Given the description of an element on the screen output the (x, y) to click on. 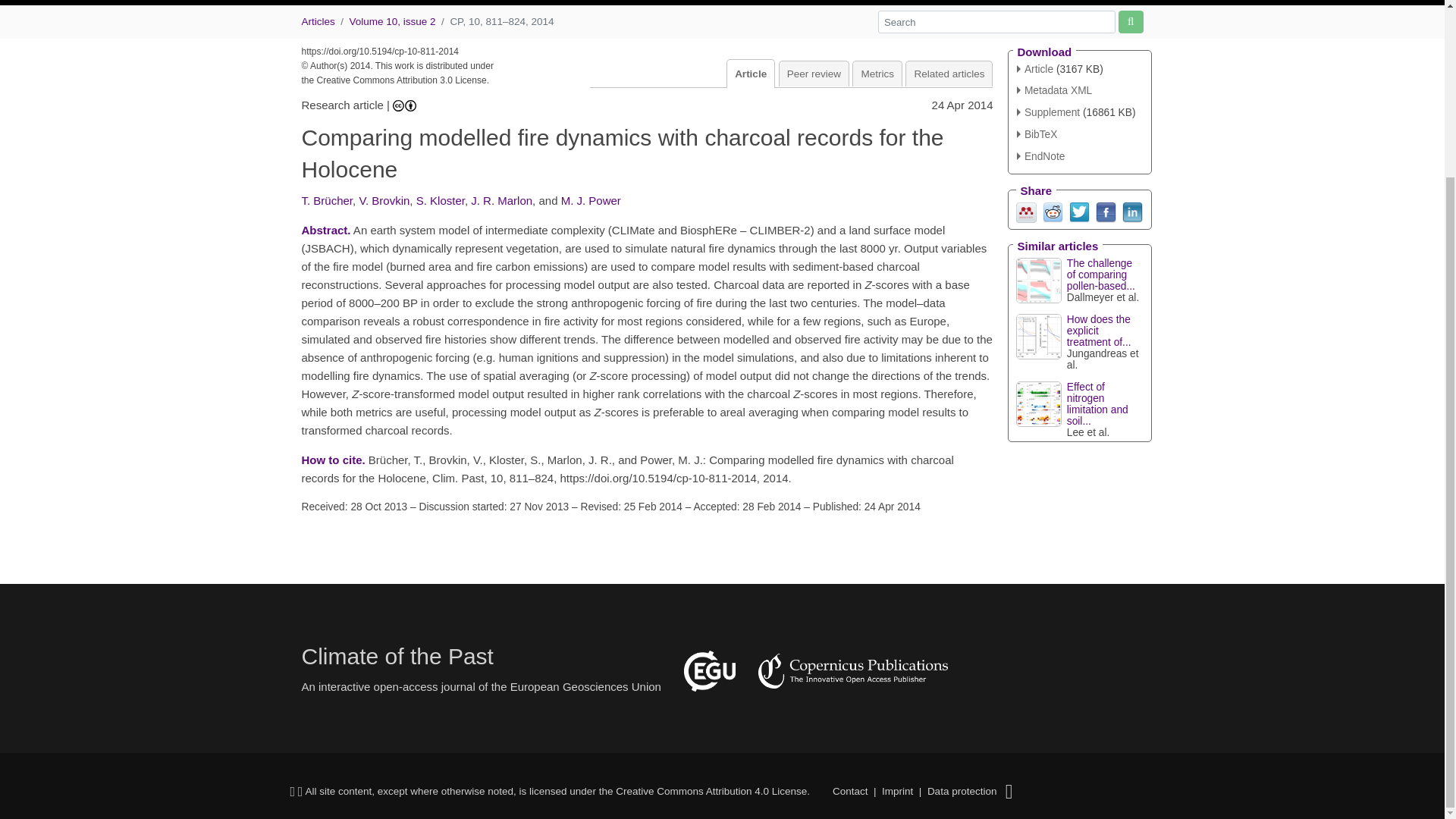
Reddit (1052, 210)
Start site search (1130, 21)
Mendeley (1026, 210)
Facebook (1104, 210)
XML Version (1054, 90)
Twitter (1078, 210)
